Given the description of an element on the screen output the (x, y) to click on. 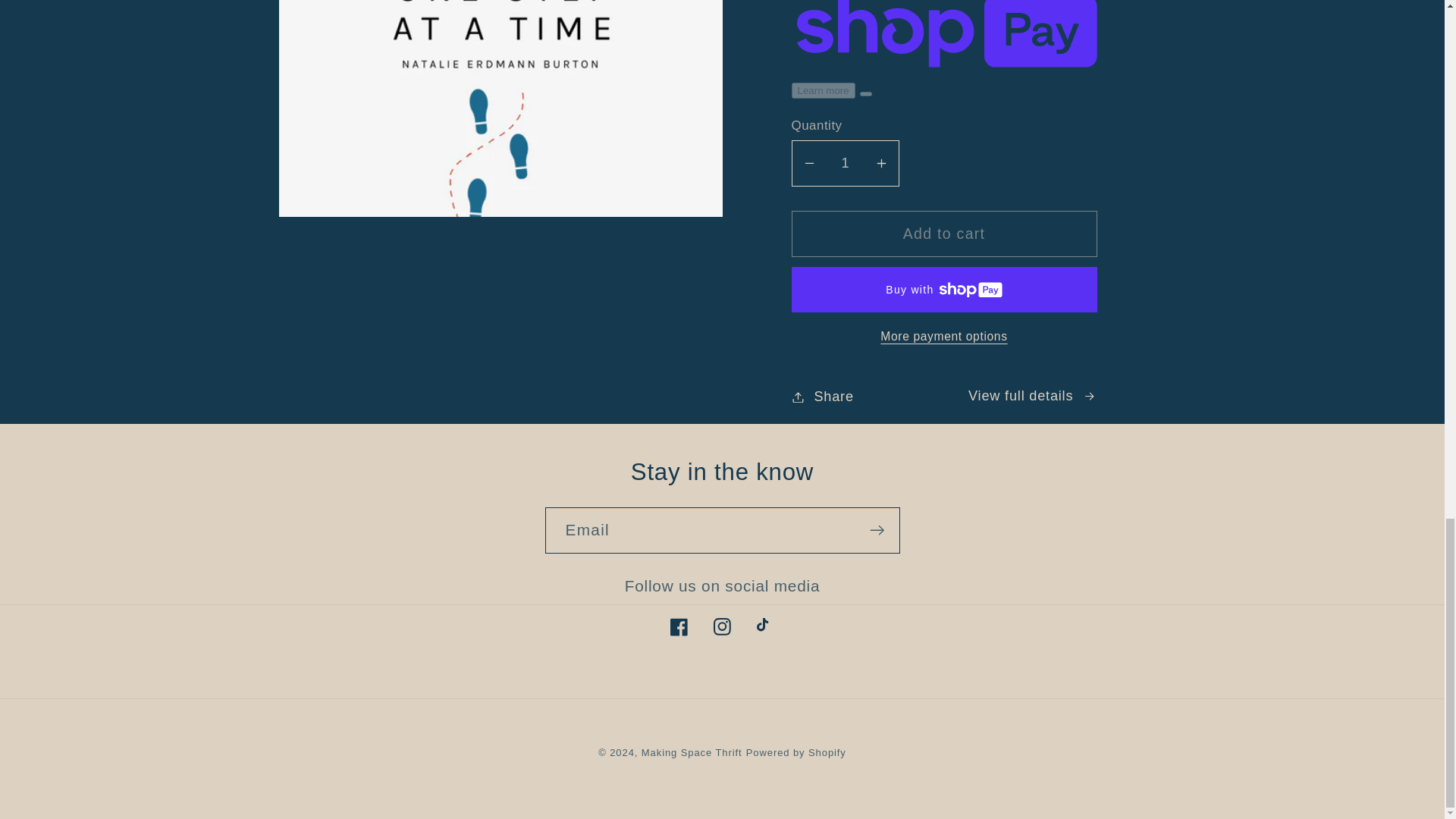
Add to cart (944, 233)
Facebook (679, 626)
More payment options (944, 336)
View full details (1032, 395)
